Given the description of an element on the screen output the (x, y) to click on. 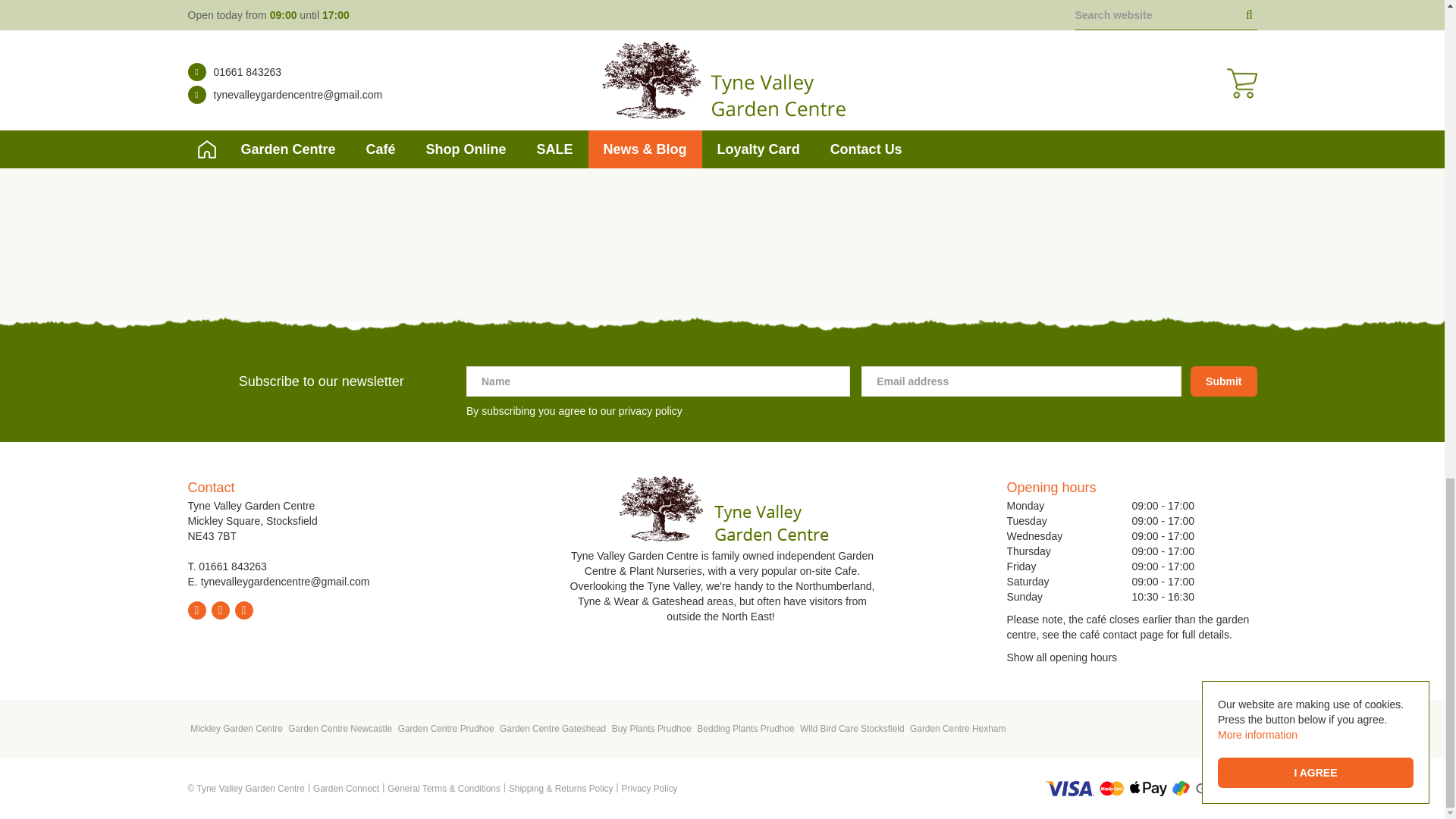
Submit (1223, 381)
